Given the description of an element on the screen output the (x, y) to click on. 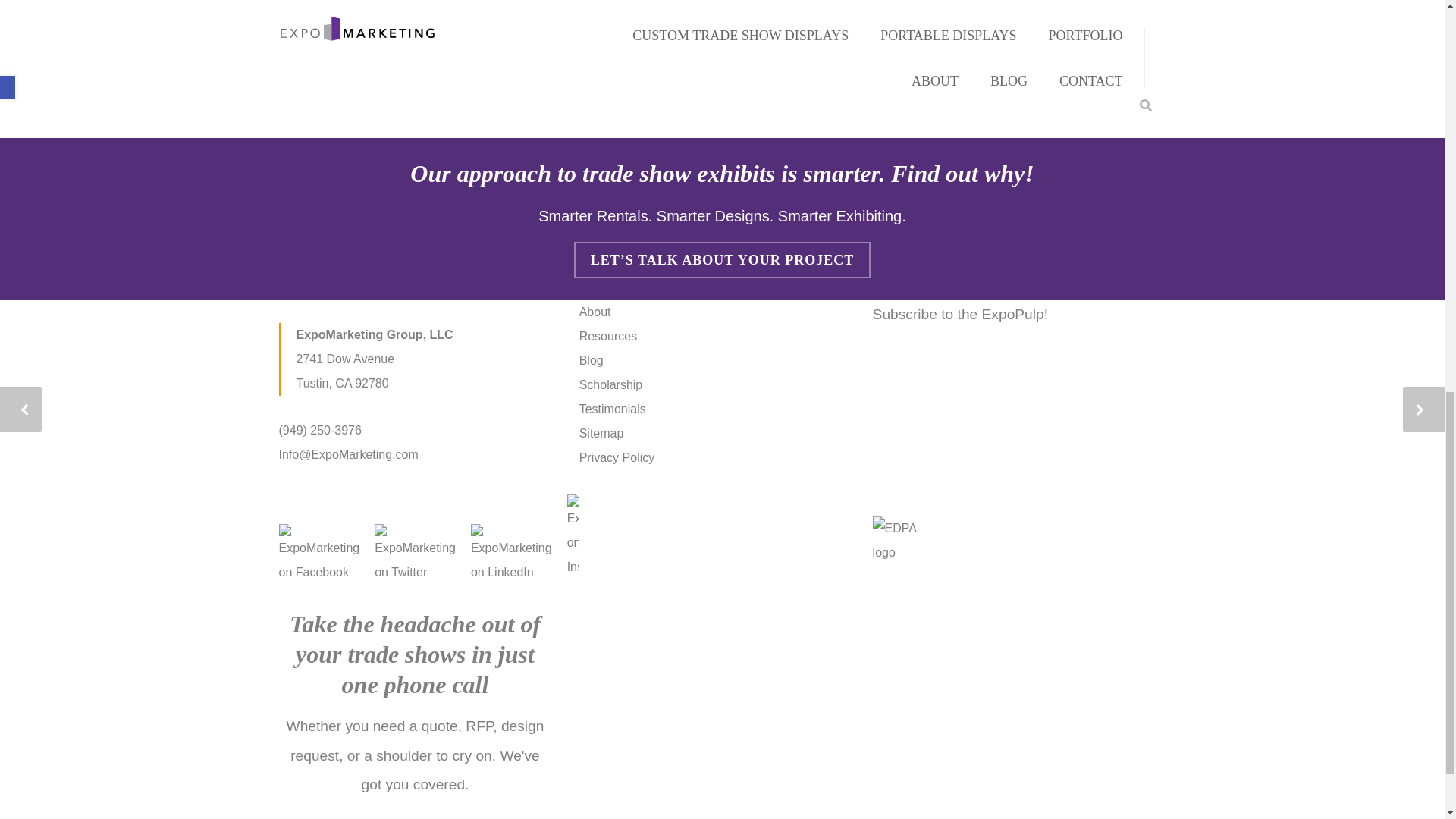
footer form (948, 407)
